Given the description of an element on the screen output the (x, y) to click on. 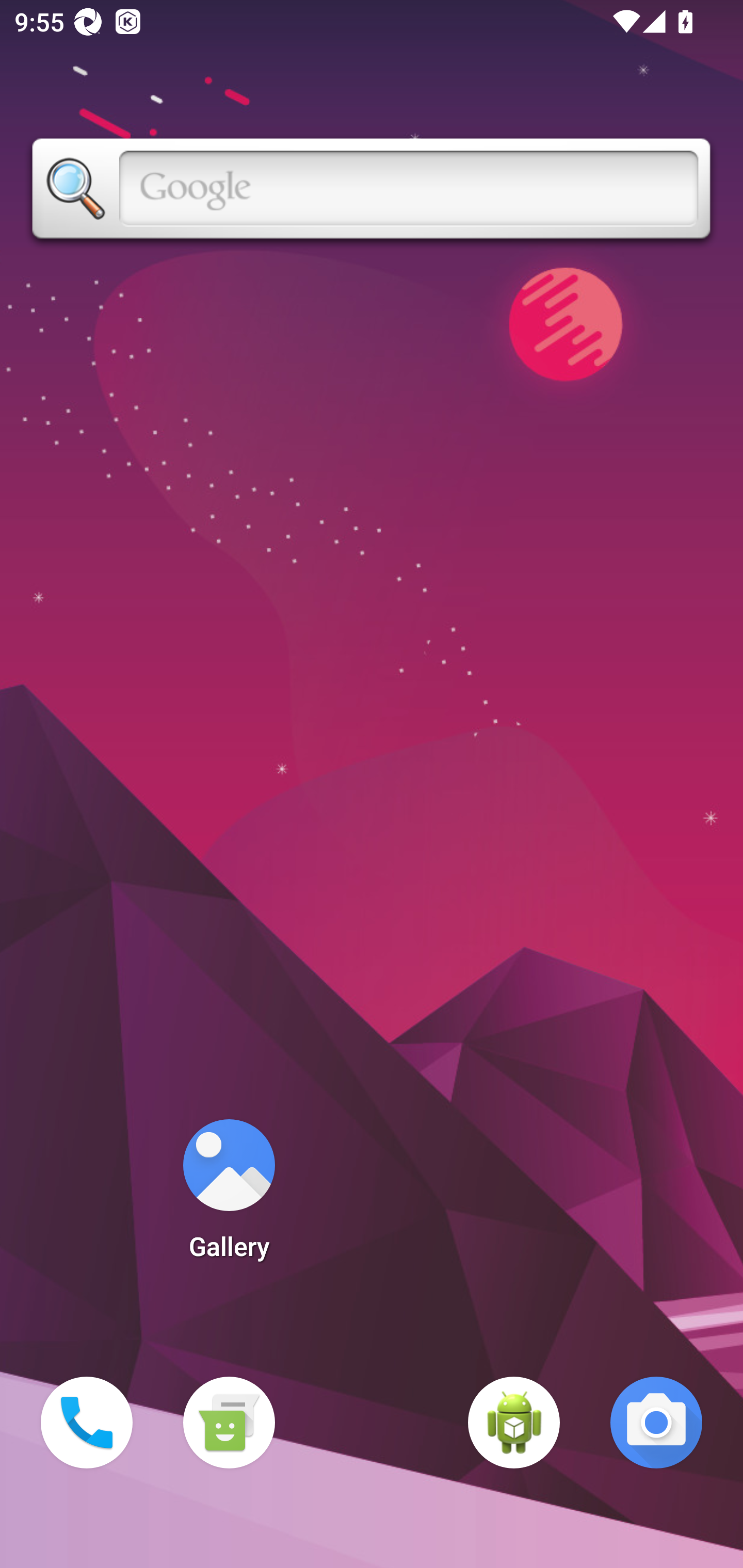
Gallery (228, 1195)
Phone (86, 1422)
Messaging (228, 1422)
WebView Browser Tester (513, 1422)
Camera (656, 1422)
